Given the description of an element on the screen output the (x, y) to click on. 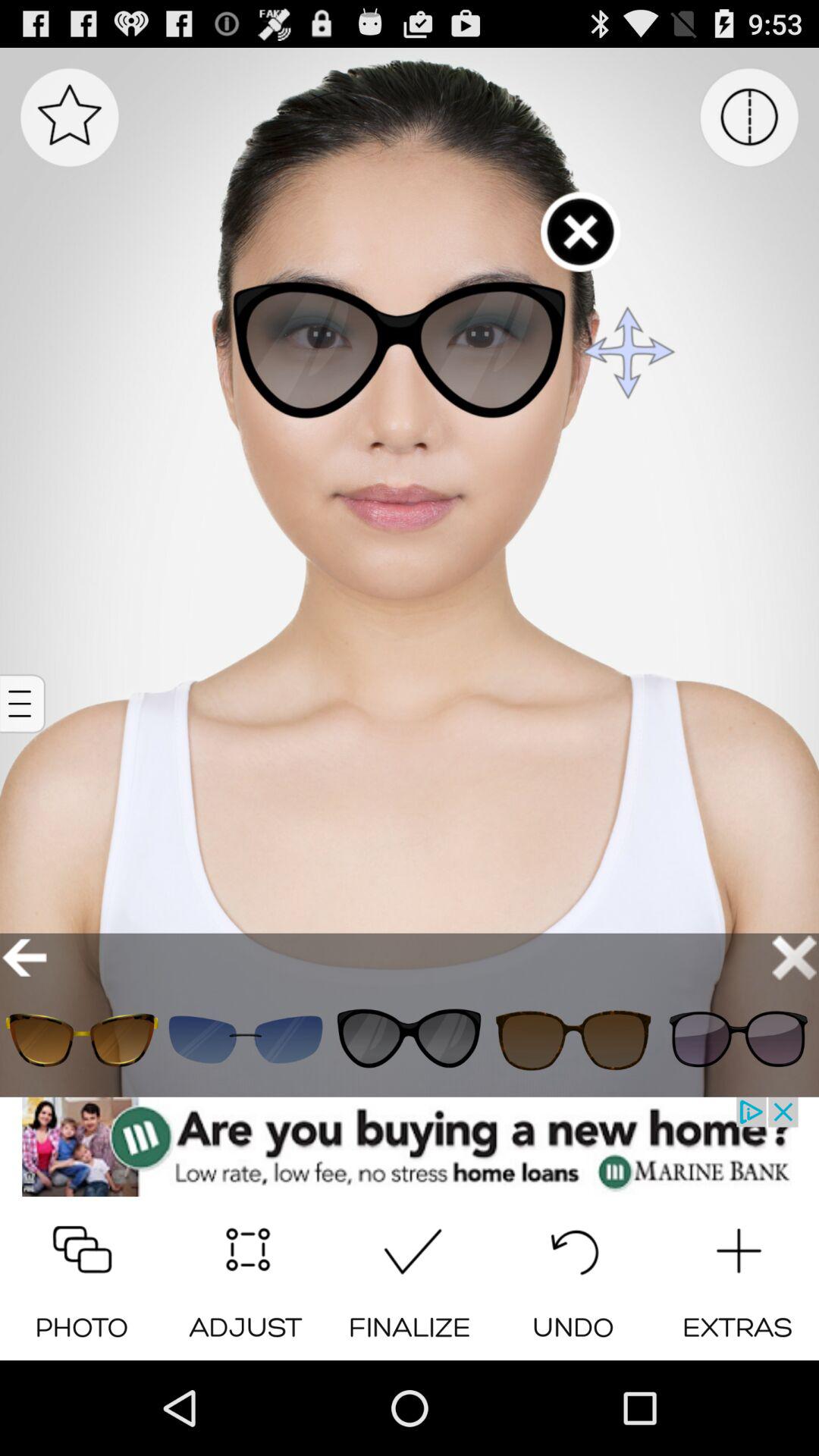
cancel the option (794, 957)
